Given the description of an element on the screen output the (x, y) to click on. 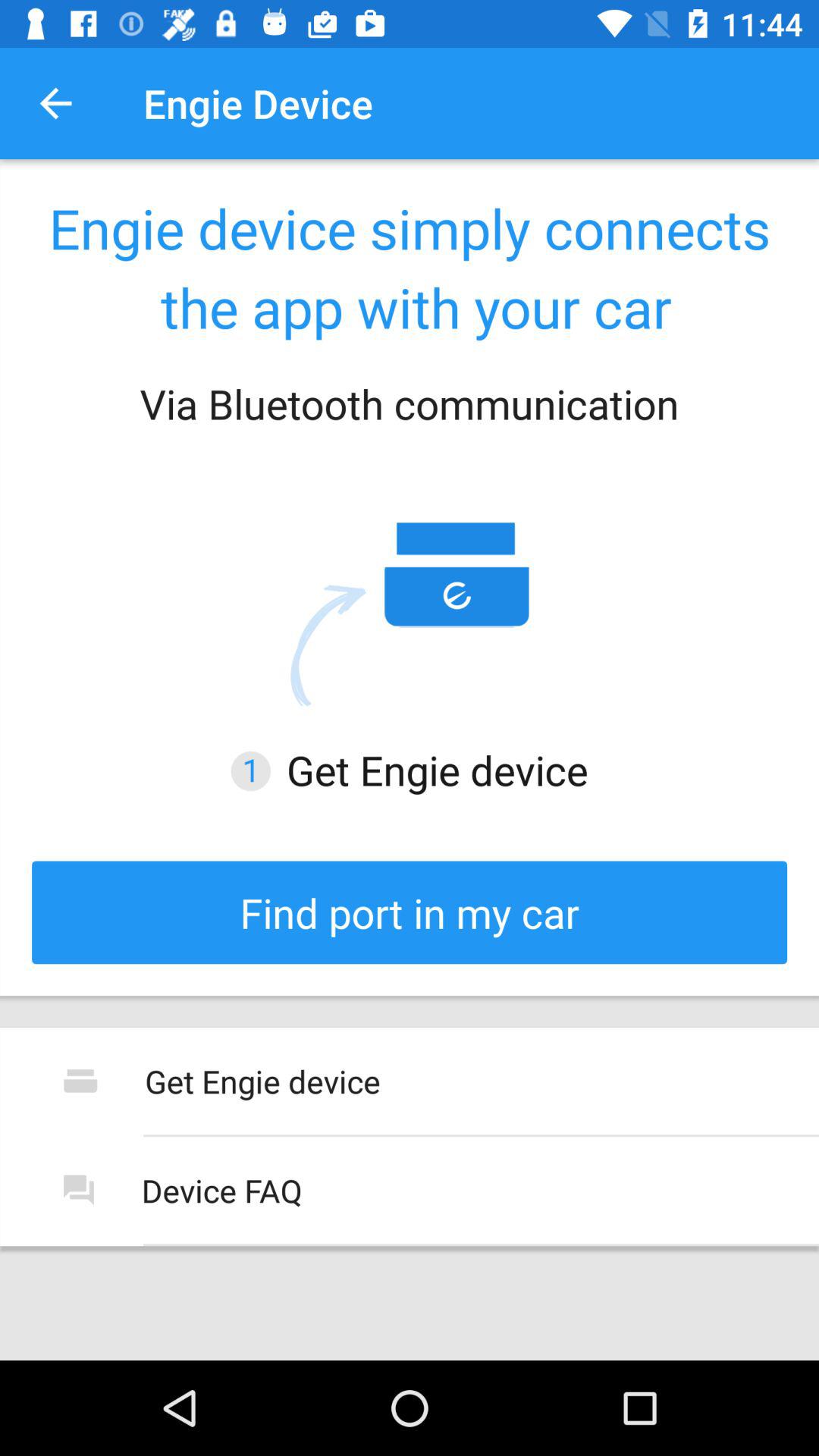
press the icon above engie device simply icon (55, 103)
